Given the description of an element on the screen output the (x, y) to click on. 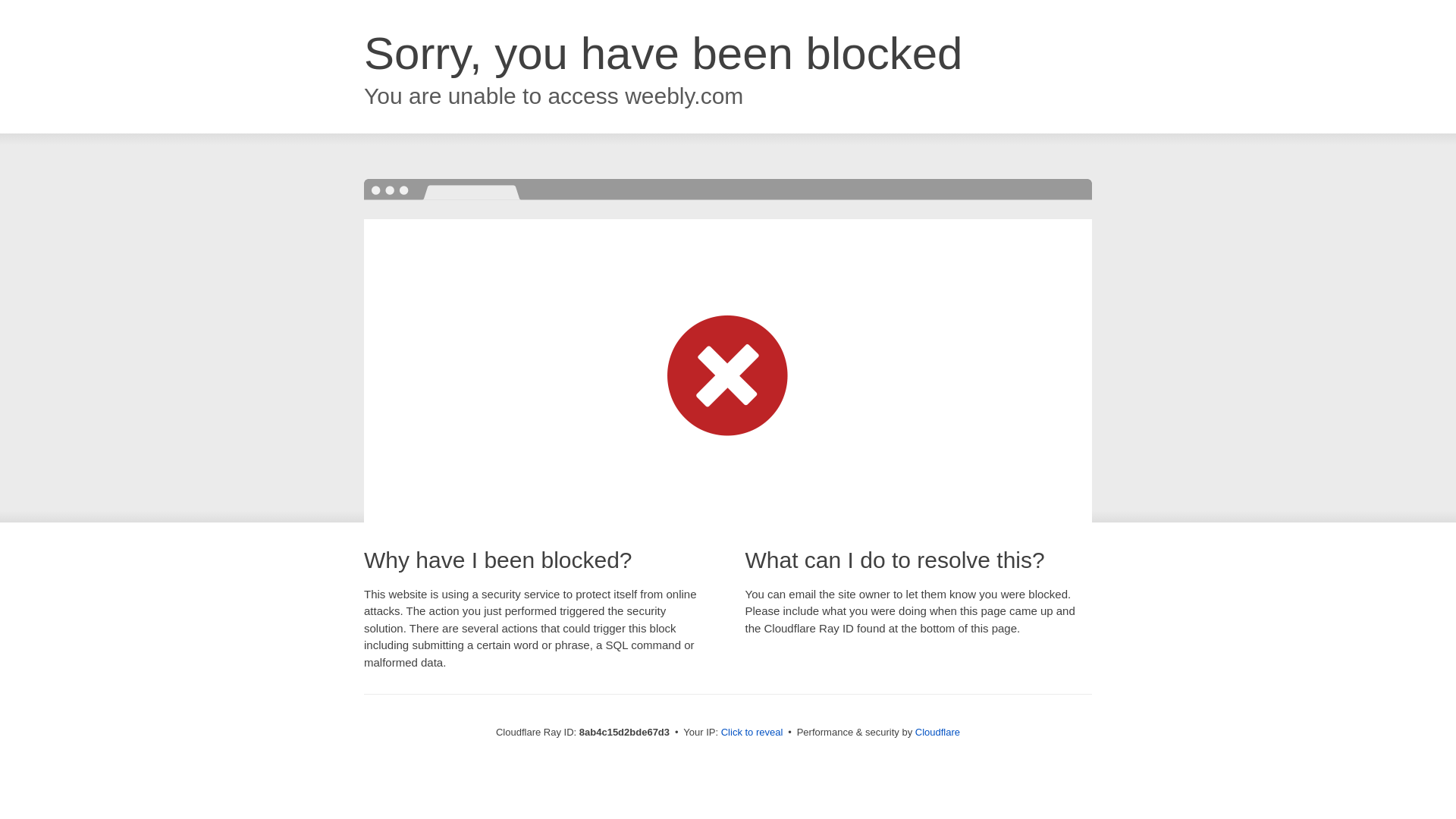
Click to reveal (751, 732)
Cloudflare (937, 731)
